Given the description of an element on the screen output the (x, y) to click on. 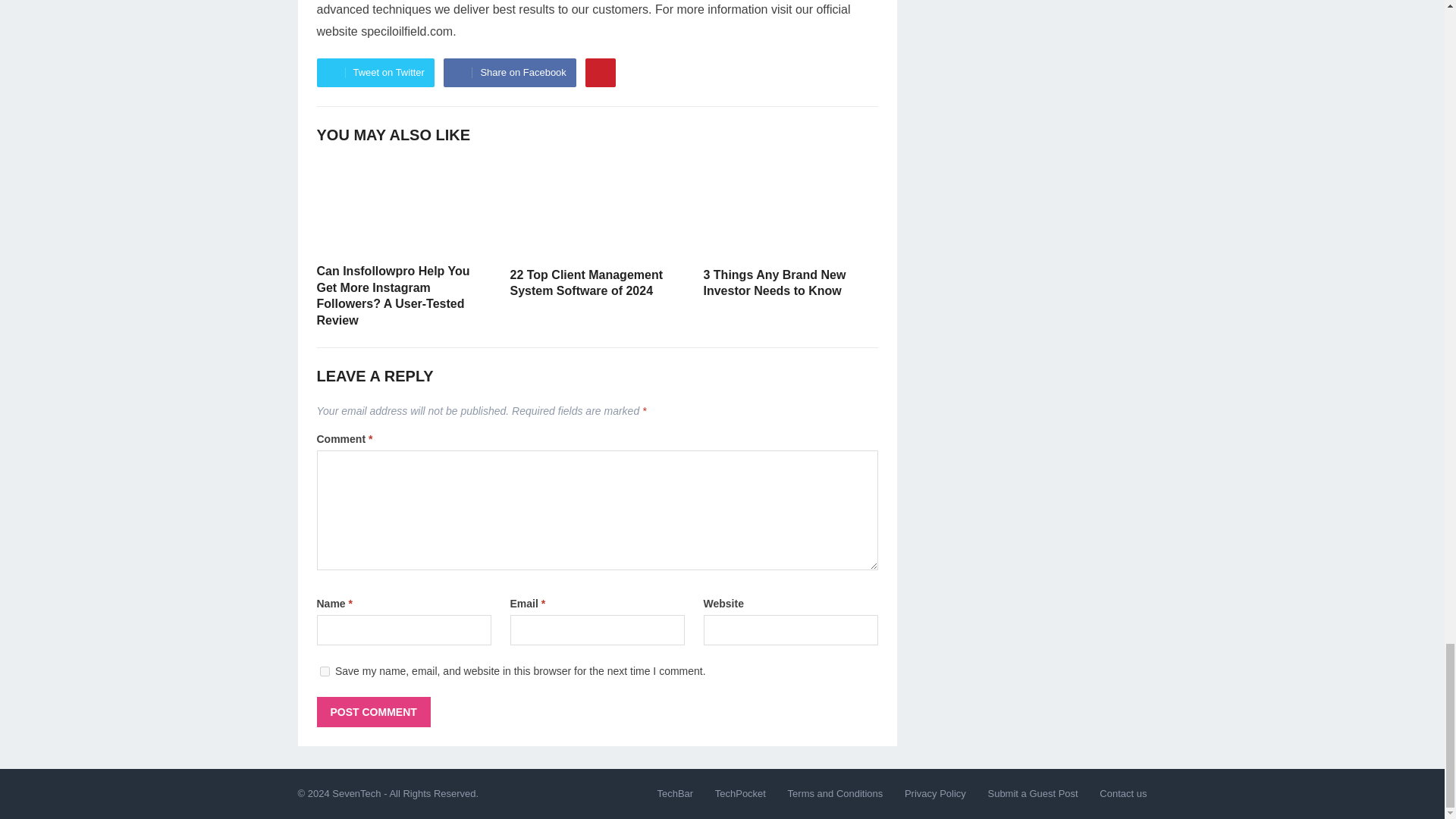
Tweet on Twitter (375, 72)
yes (325, 671)
Pinterest (600, 72)
Post Comment (373, 711)
Share on Facebook (509, 72)
3 Things Any Brand New Investor Needs to Know (774, 283)
Post Comment (373, 711)
22 Top Client Management System Software of 2024 (585, 283)
